Given the description of an element on the screen output the (x, y) to click on. 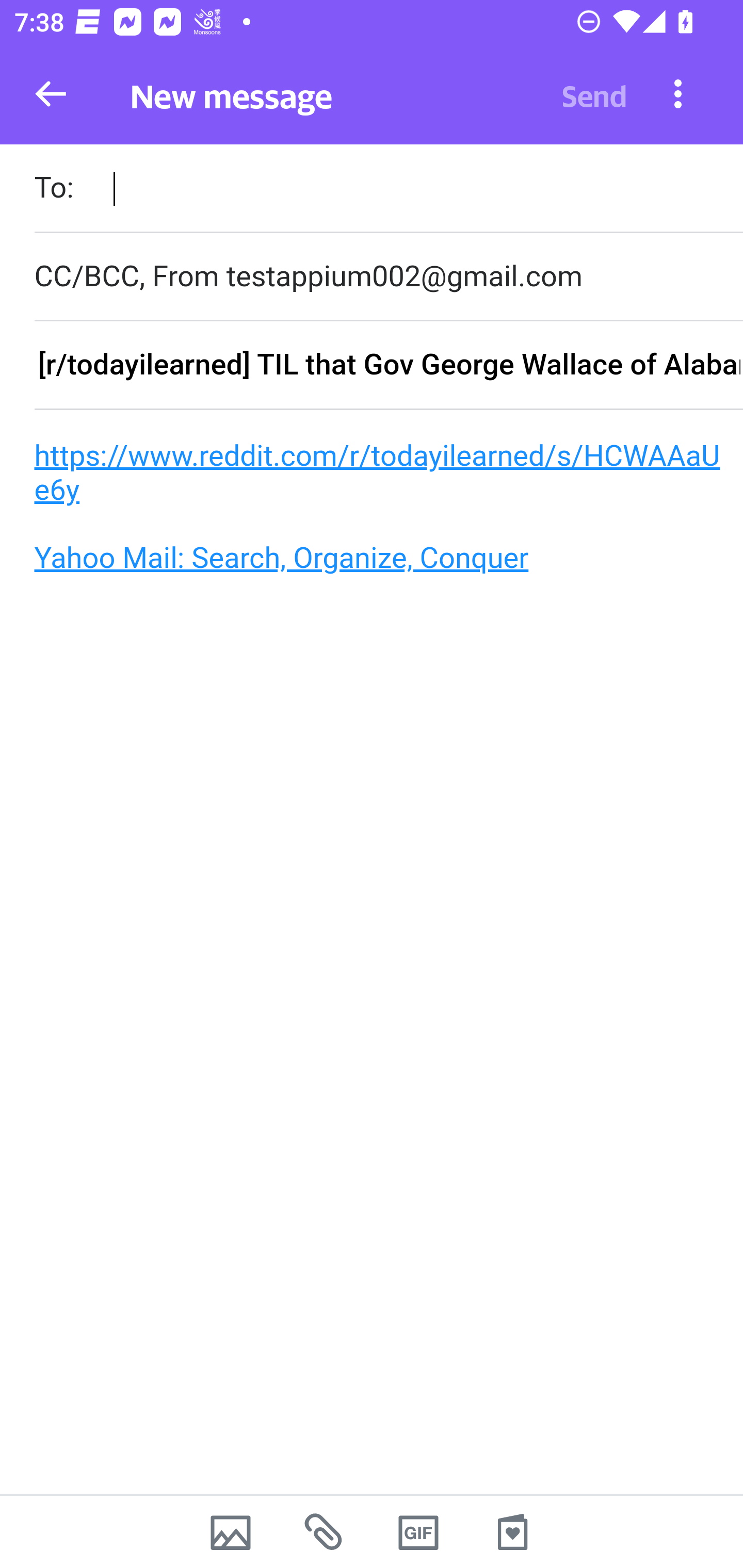
Back (50, 93)
Send (594, 93)
More options (677, 93)
To: (387, 189)
CC/BCC, From testappium002@gmail.com (387, 276)
Camera photos (230, 1531)
Recent attachments from mail (324, 1531)
GIFs (417, 1531)
Stationery (512, 1531)
